Given the description of an element on the screen output the (x, y) to click on. 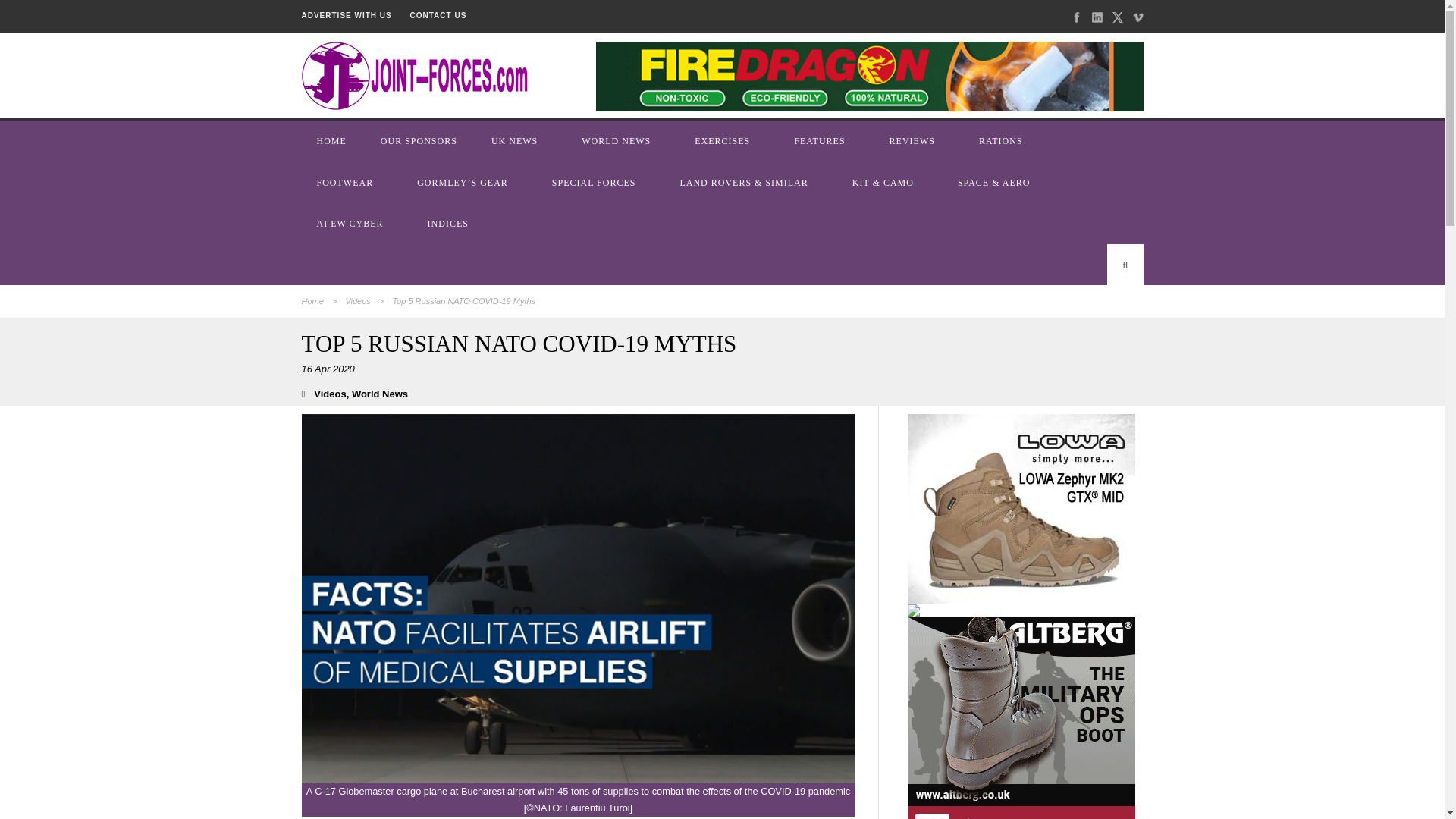
HOME (333, 140)
ADVERTISE WITH US (346, 15)
CONTACT US (438, 15)
